Given the description of an element on the screen output the (x, y) to click on. 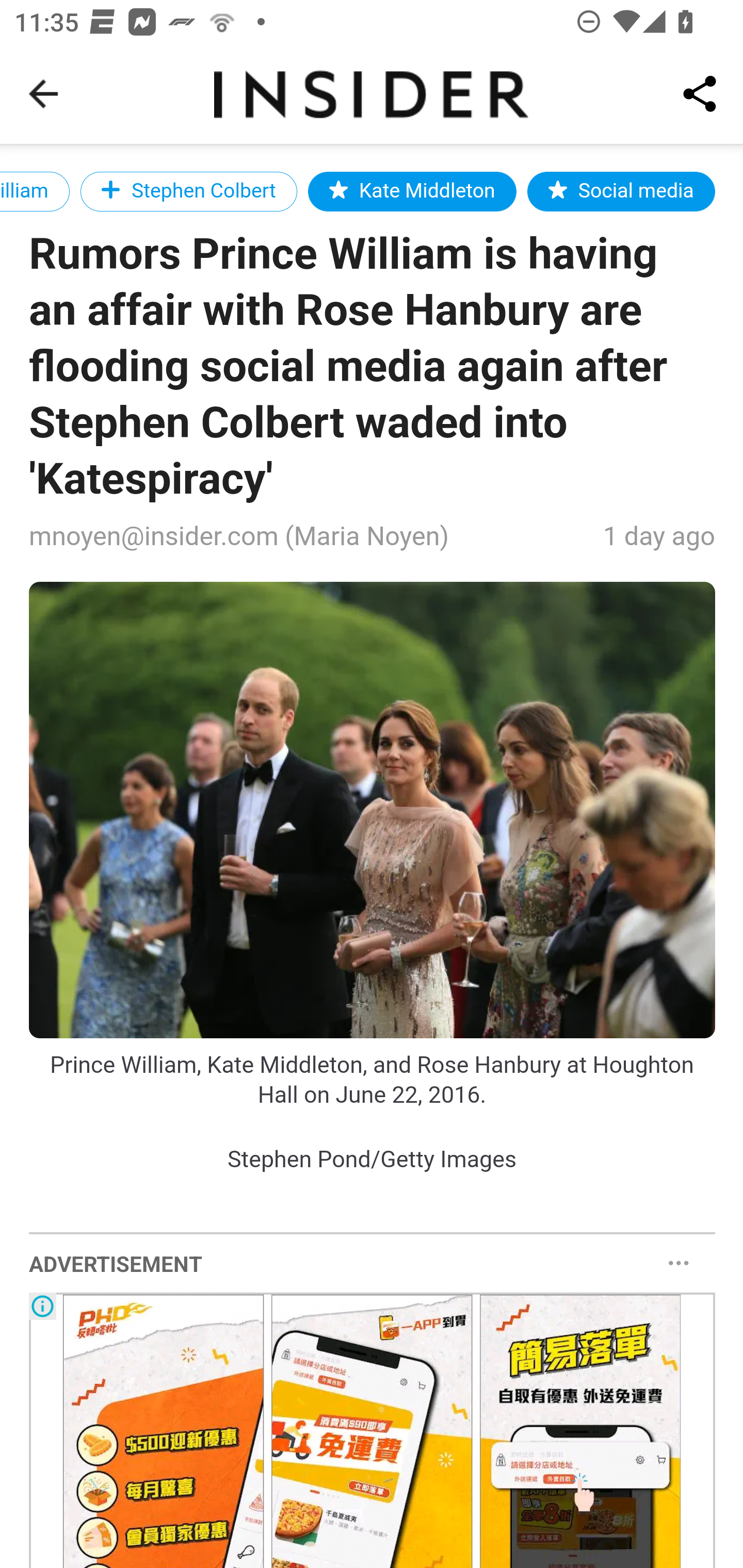
Stephen Colbert (188, 191)
Kate Middleton (411, 191)
Social media (620, 191)
?url=https%3A%2F%2Fi.insider (372, 810)
